Given the description of an element on the screen output the (x, y) to click on. 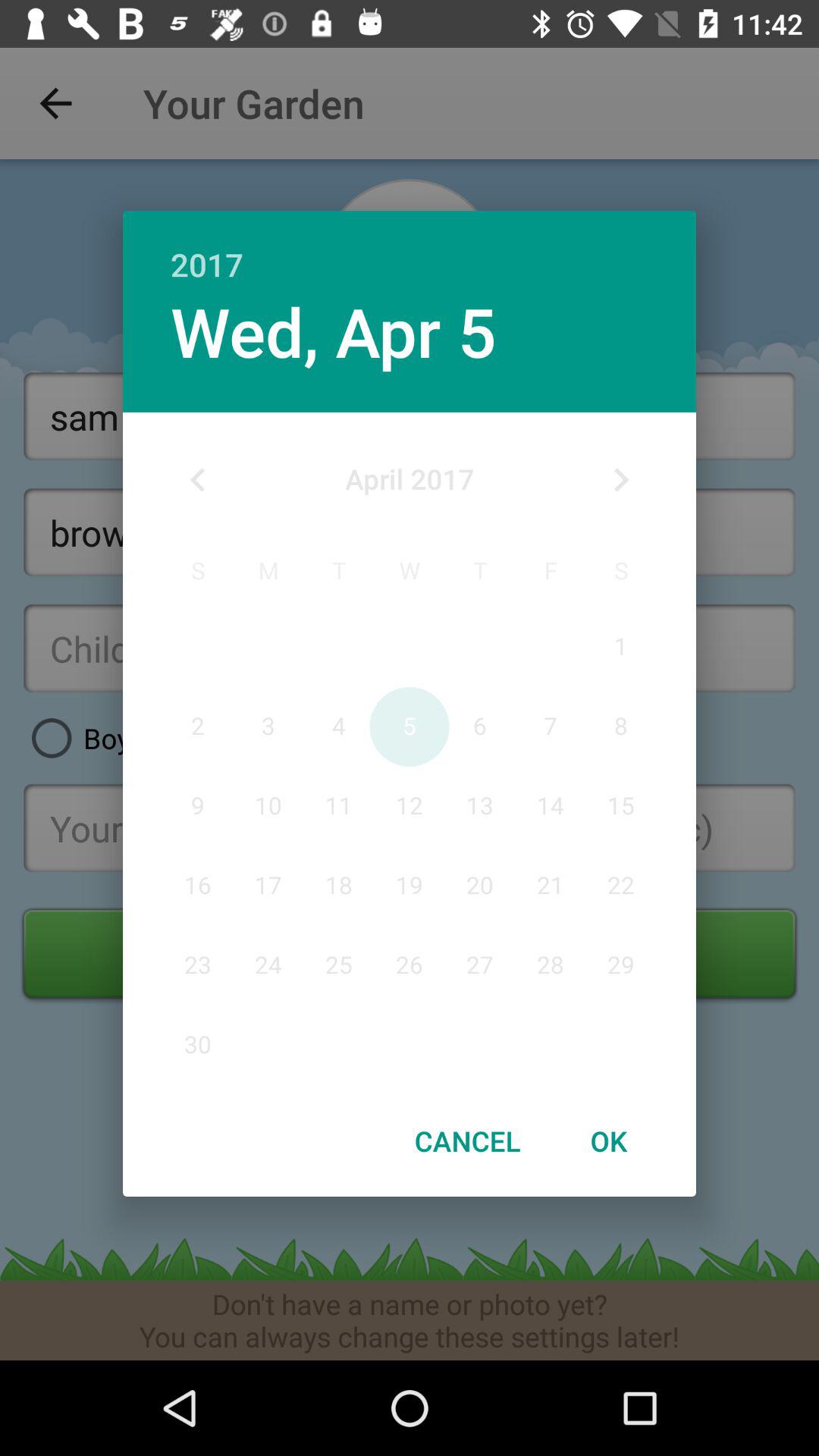
select icon at the bottom right corner (608, 1140)
